Given the description of an element on the screen output the (x, y) to click on. 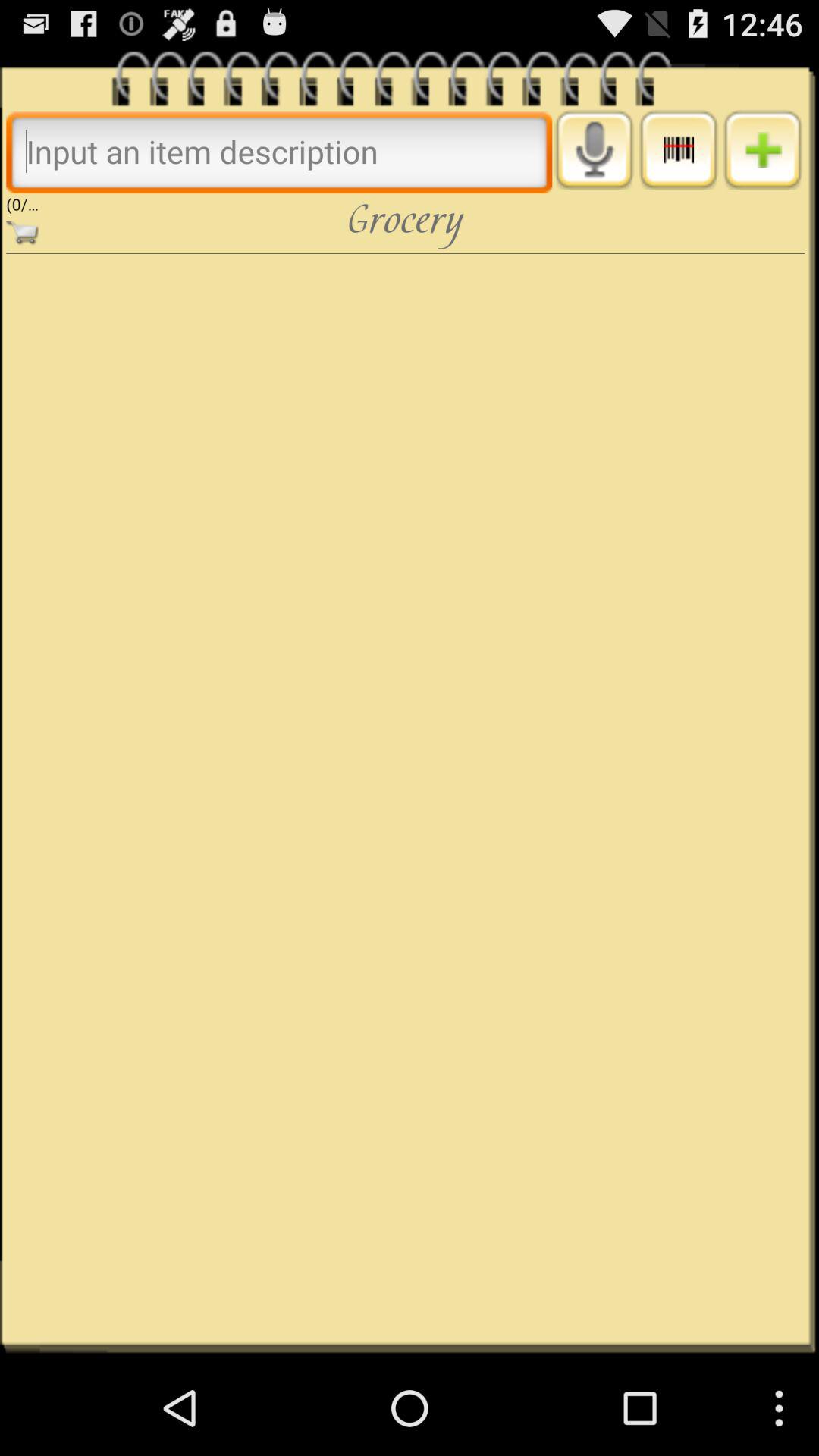
add another item to list (762, 149)
